Given the description of an element on the screen output the (x, y) to click on. 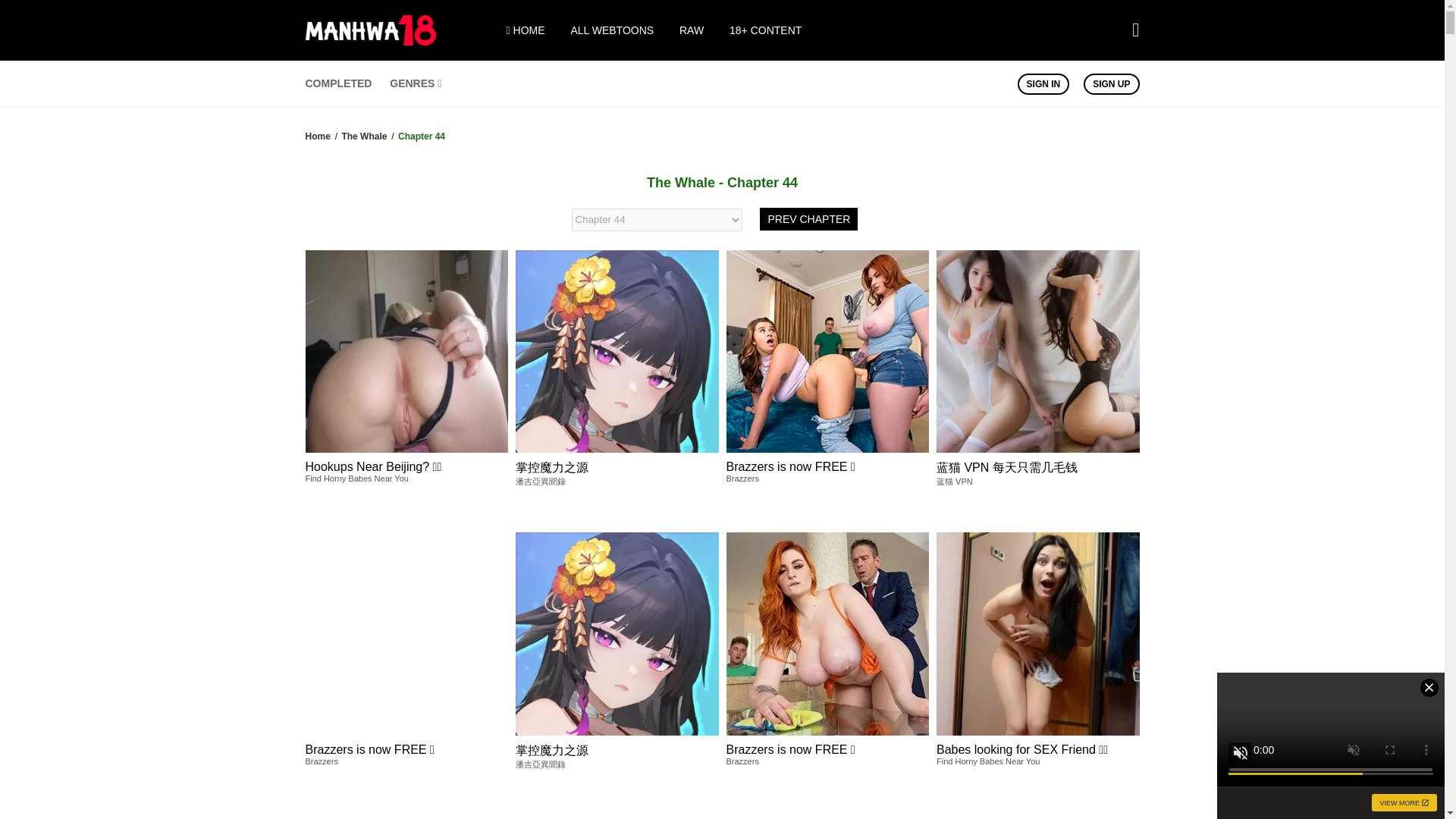
Read Webtoons and Korean Manhwa in English for Free (369, 41)
HOME (525, 30)
Completed Webtoons, Korean Manhwa (337, 82)
COMPLETED (337, 82)
RAW (691, 30)
Adult (765, 30)
GENRES (415, 82)
ALL WEBTOONS (611, 30)
Browser all Webtoons and Korean Manhwa (611, 30)
Premium Webtoons Raw, Manhwa Raw (691, 30)
Manga List - Genres: All (415, 82)
Read Webtoons and Korean Manhwa in English for Free (525, 30)
